Given the description of an element on the screen output the (x, y) to click on. 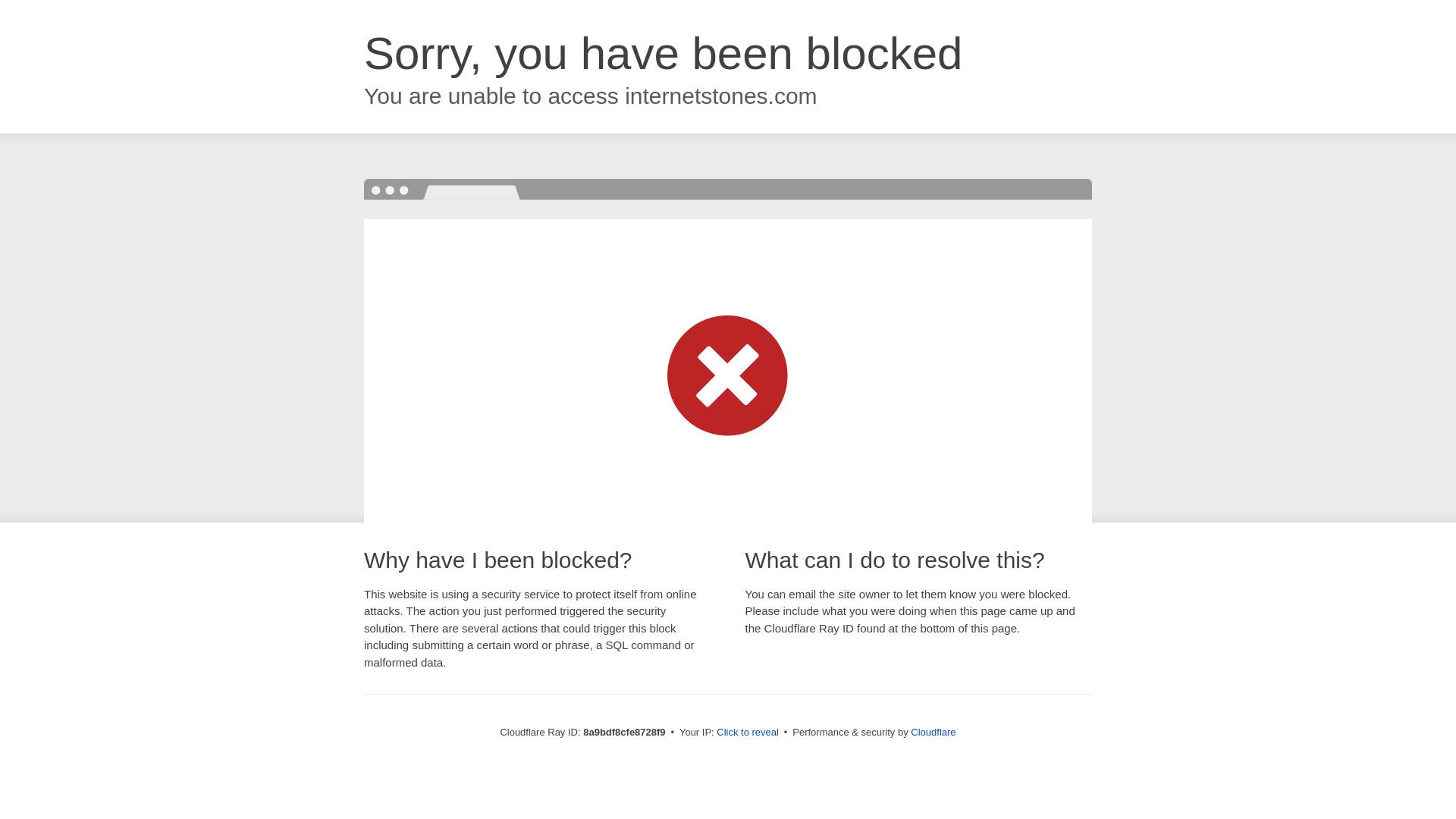
Click to reveal (747, 732)
Cloudflare (933, 731)
